Given the description of an element on the screen output the (x, y) to click on. 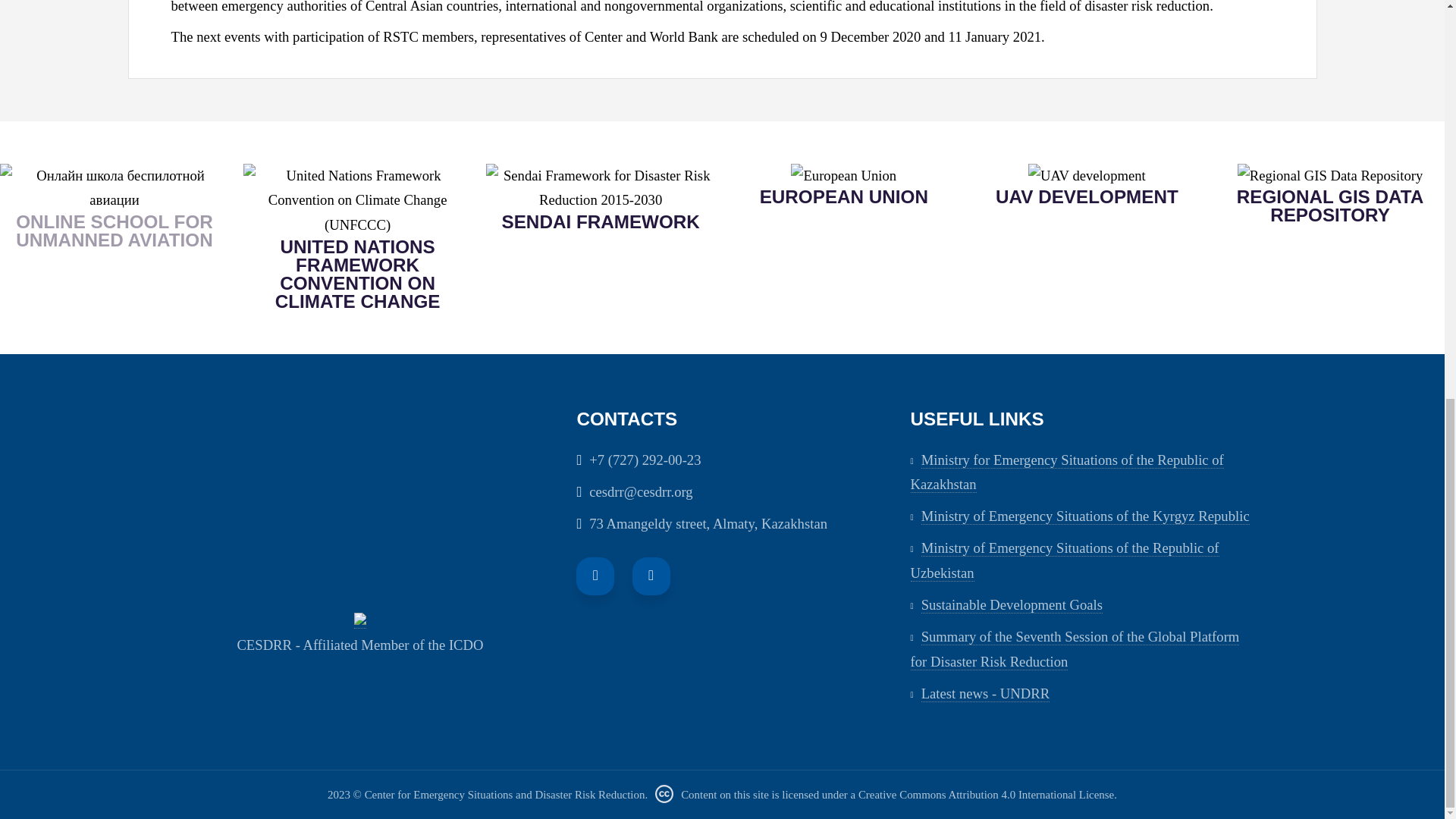
Sustainable Development Goals (1011, 605)
UNITED NATIONS FRAMEWORK CONVENTION ON CLIMATE CHANGE (357, 275)
Latest news - UNDRR (985, 693)
EUROPEAN UNION (843, 197)
ONLINE SCHOOL FOR UNMANNED AVIATION (114, 231)
SENDAI FRAMEWORK (600, 221)
Ministry of Emergency Situations of the Kyrgyz Republic (1085, 515)
UAV DEVELOPMENT (1086, 197)
